Given the description of an element on the screen output the (x, y) to click on. 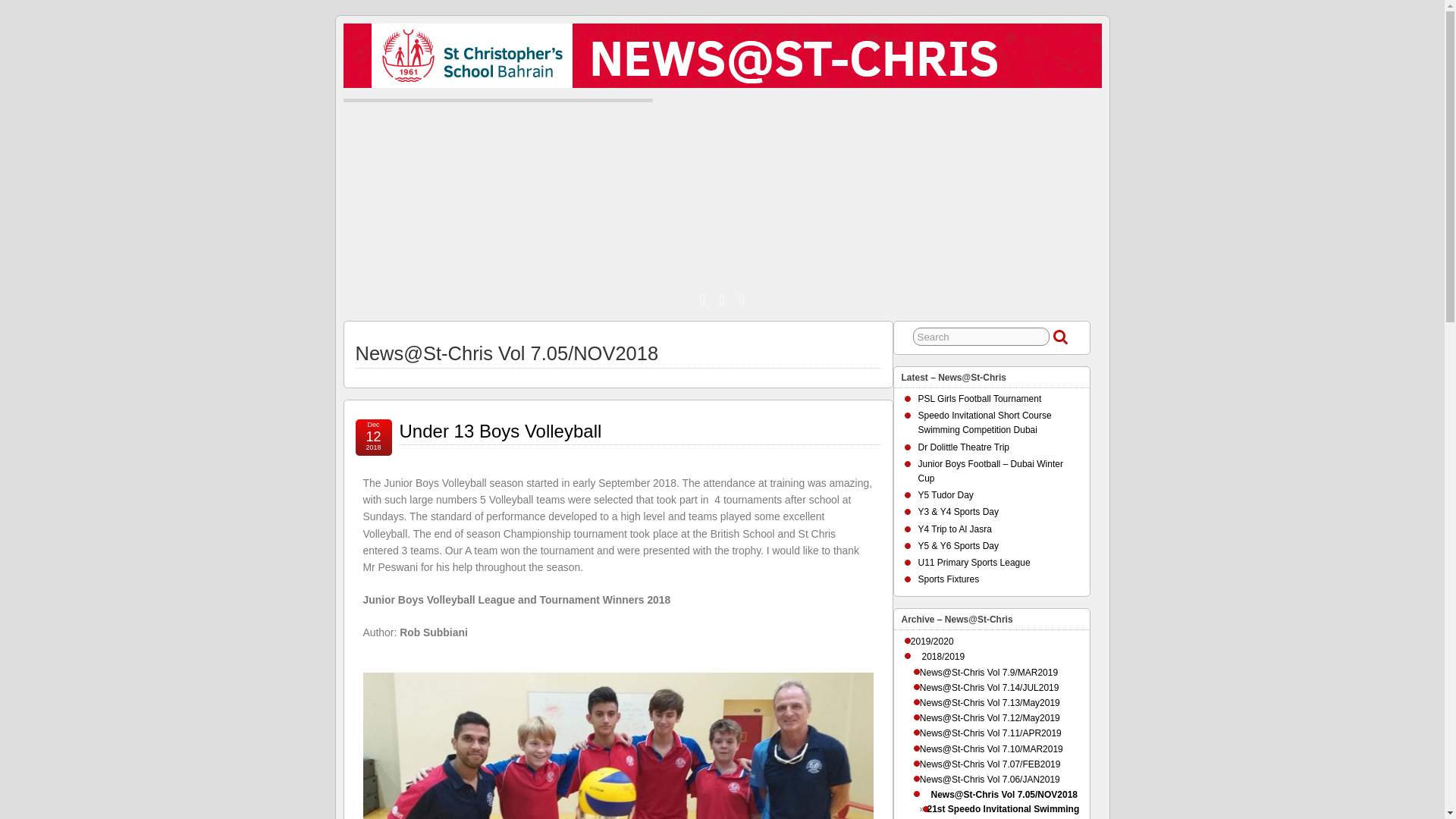
PSL Girls Football Tournament (979, 398)
Y4 Trip to Al Jasra (954, 528)
Sports Fixtures (947, 579)
Y5 Tudor Day (944, 494)
Dr Dolittle Theatre Trip (963, 447)
Search (980, 336)
21st Speedo Invitational Swimming Championships (1003, 811)
Under 13 Boys Volleyball (499, 430)
Under 13 Boys Volleyball (499, 430)
Speedo Invitational Short Course Swimming Competition Dubai (984, 422)
